Given the description of an element on the screen output the (x, y) to click on. 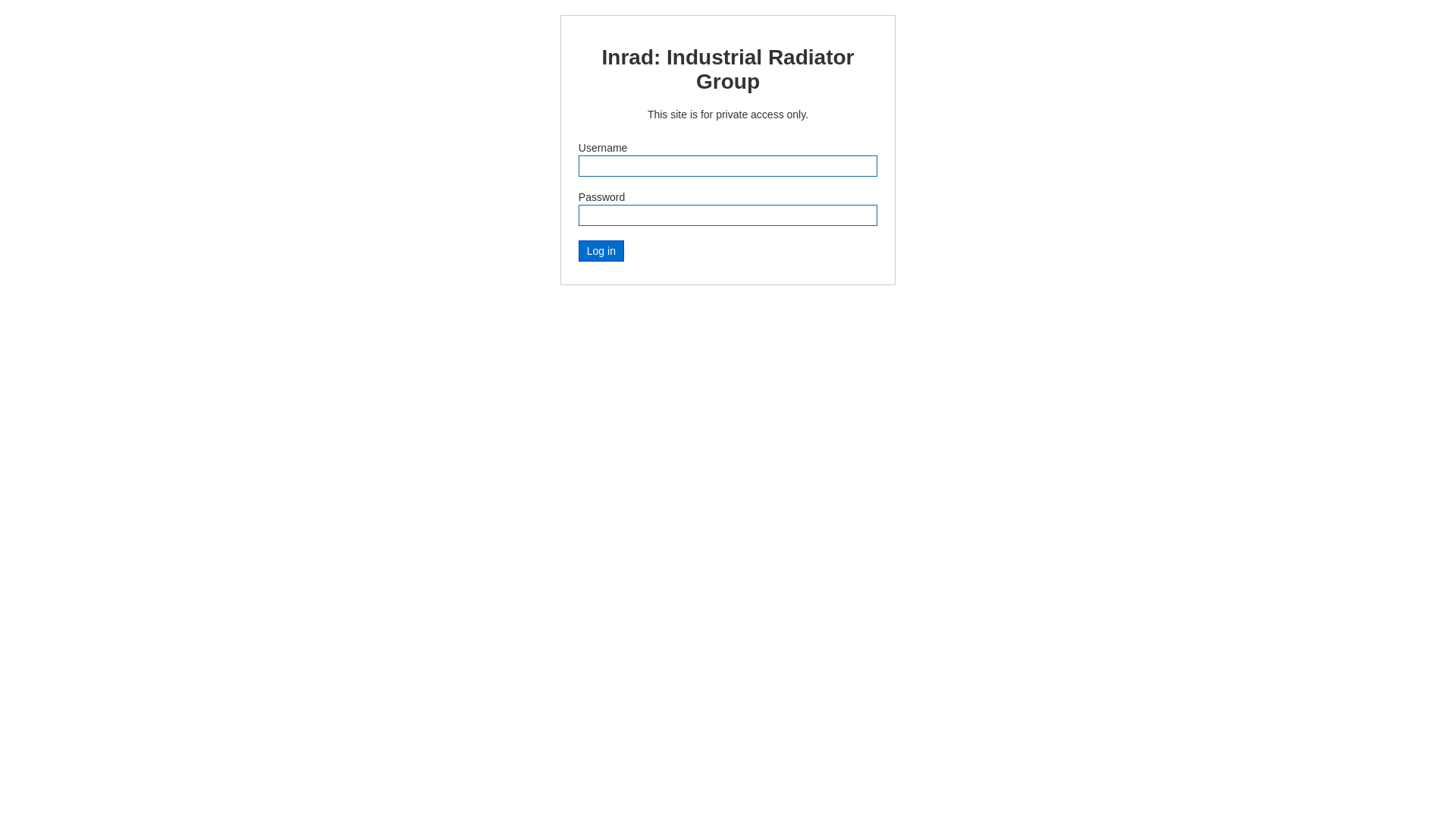
Log in Element type: text (601, 250)
